Given the description of an element on the screen output the (x, y) to click on. 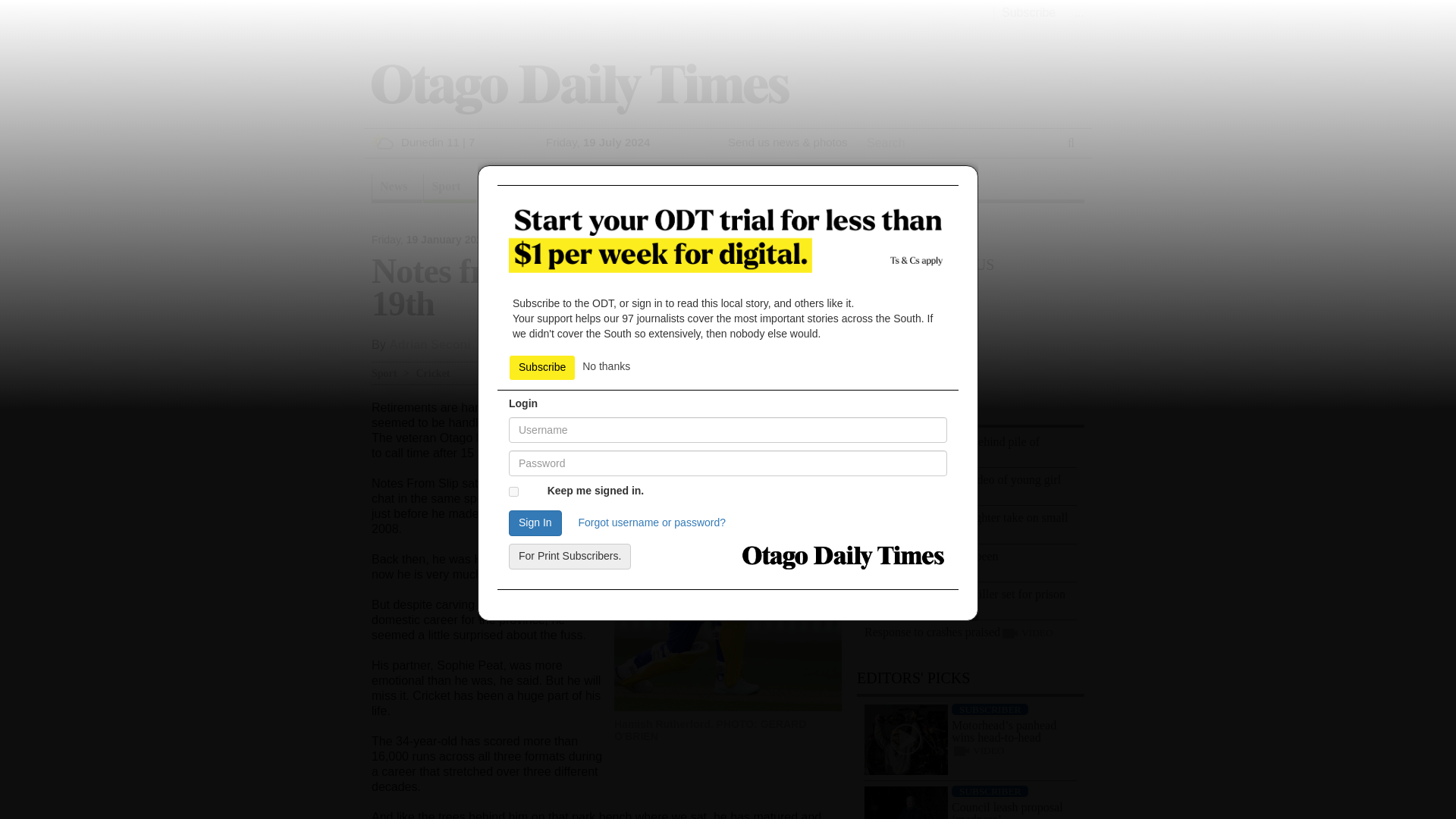
ShareThis (835, 339)
Twitter (805, 339)
Sport (449, 188)
Partly cloudy (382, 141)
Home (580, 87)
Facebook (757, 339)
Subscribe (1028, 11)
News (396, 188)
Search (886, 161)
Enter the terms you wish to search for. (957, 143)
